Given the description of an element on the screen output the (x, y) to click on. 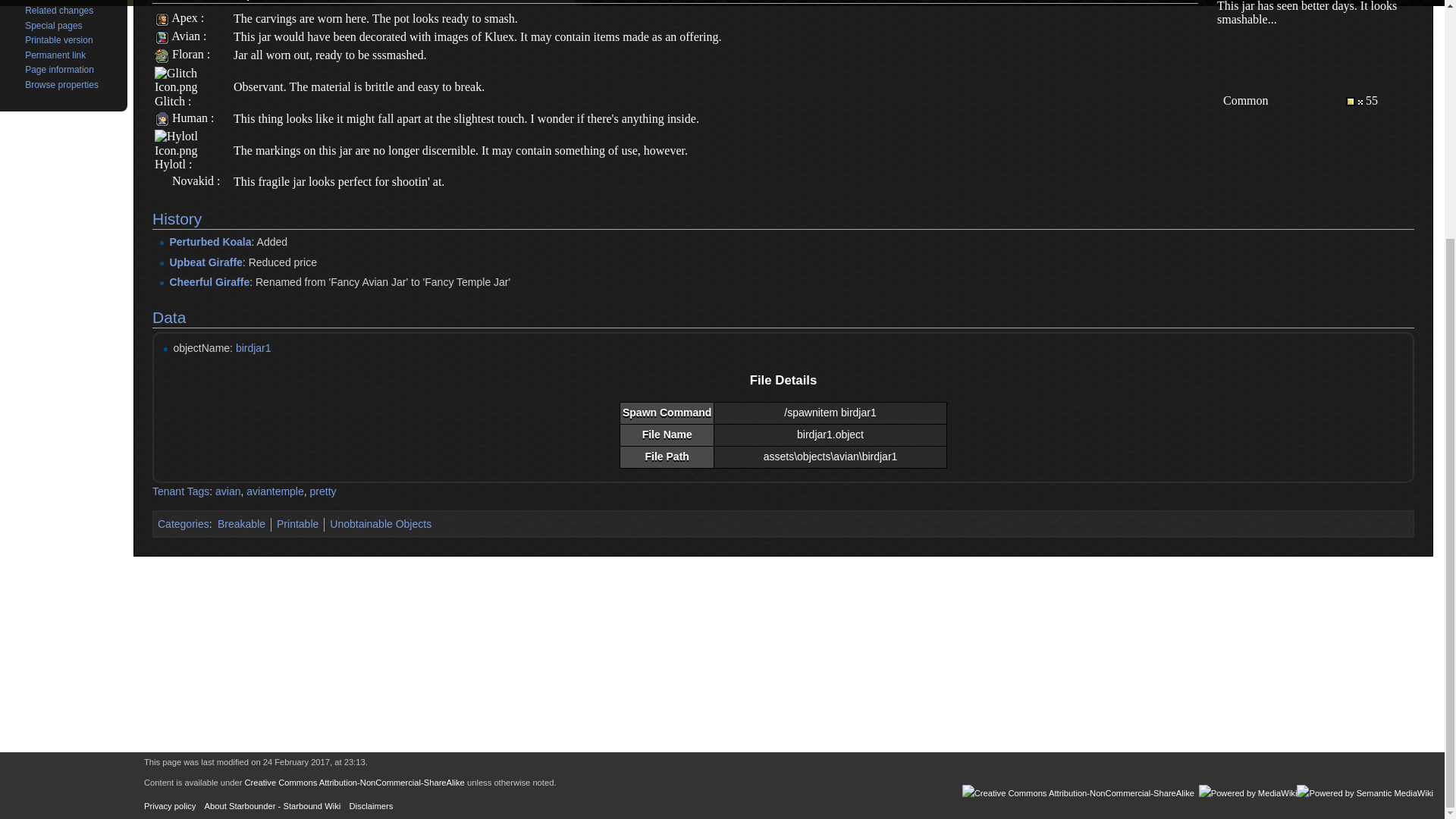
Value (1353, 100)
Cheerful Giraffe (208, 282)
Data (169, 316)
avian (227, 491)
Avian (161, 35)
Apex (161, 17)
Glitch (169, 101)
Novakid (192, 180)
Upbeat Giraffe (204, 262)
Floran (161, 53)
Floran (187, 53)
Human (189, 117)
Apex (184, 17)
Avian (185, 35)
Hylotl (170, 164)
